Given the description of an element on the screen output the (x, y) to click on. 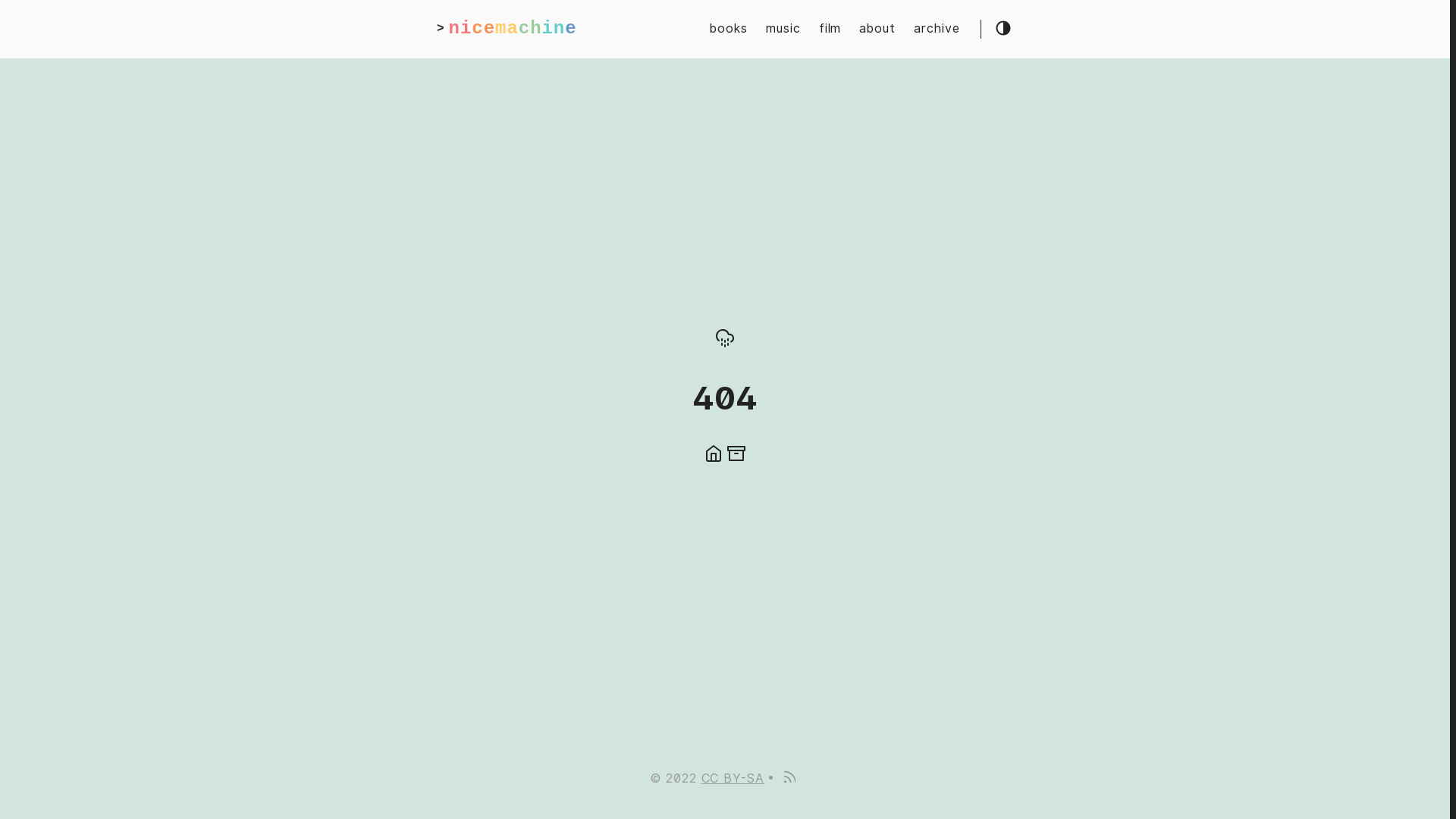
archive Element type: text (936, 28)
rss Element type: hover (788, 778)
>
nicemachine Element type: text (506, 29)
about Element type: text (877, 28)
film Element type: text (830, 28)
books Element type: text (728, 28)
music Element type: text (782, 28)
CC BY-SA Element type: text (733, 778)
